Given the description of an element on the screen output the (x, y) to click on. 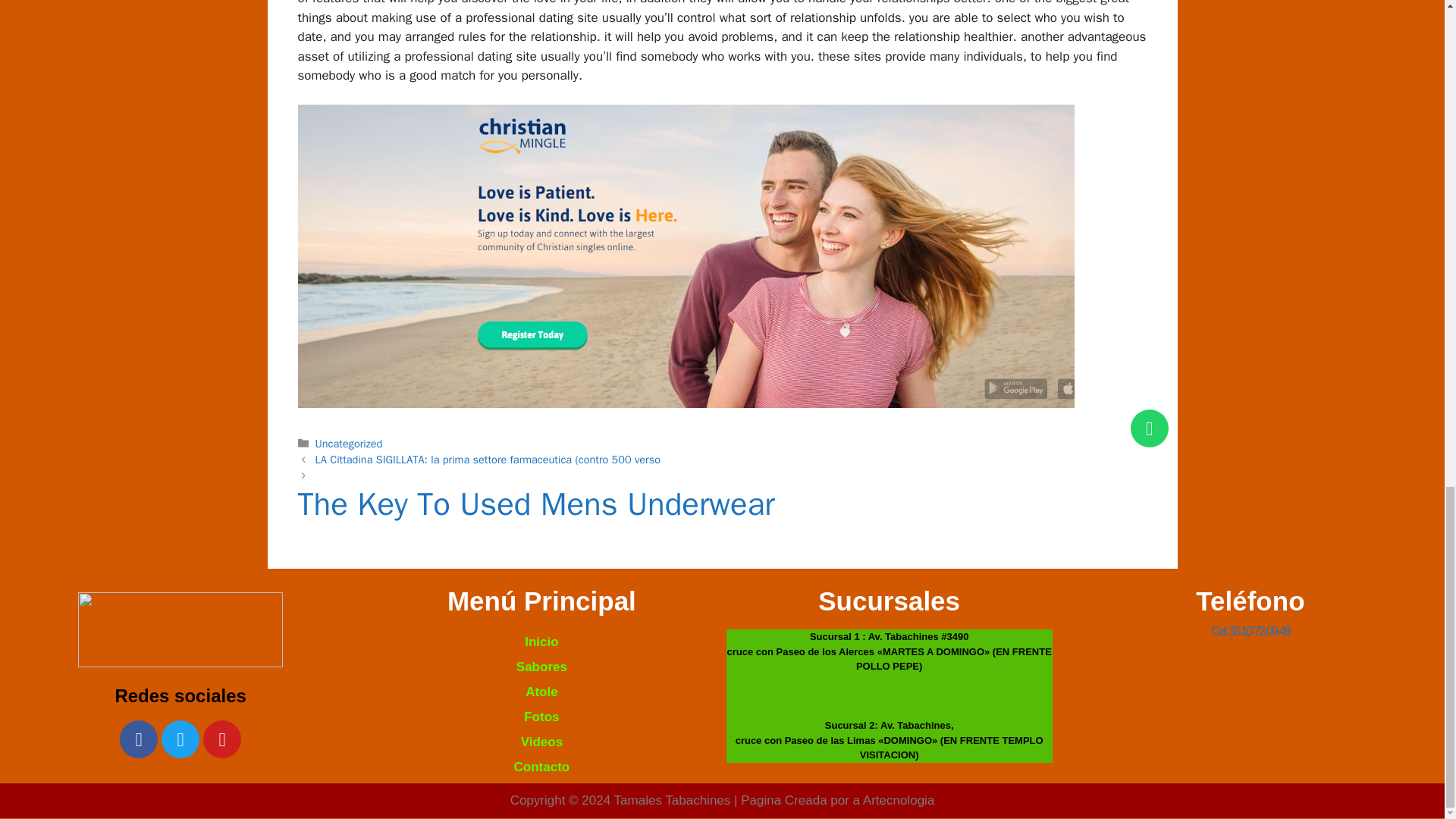
Anterior (488, 459)
Sabores (541, 666)
Inicio (541, 641)
Siguiente (722, 511)
Cel. 33-10-72-09-49 (1249, 631)
Atole (541, 691)
Uncategorized (348, 443)
Contacto (541, 766)
Fotos (541, 716)
Videos (541, 741)
The Key To Used Mens Underwear (722, 511)
Artecnologia (898, 800)
